Given the description of an element on the screen output the (x, y) to click on. 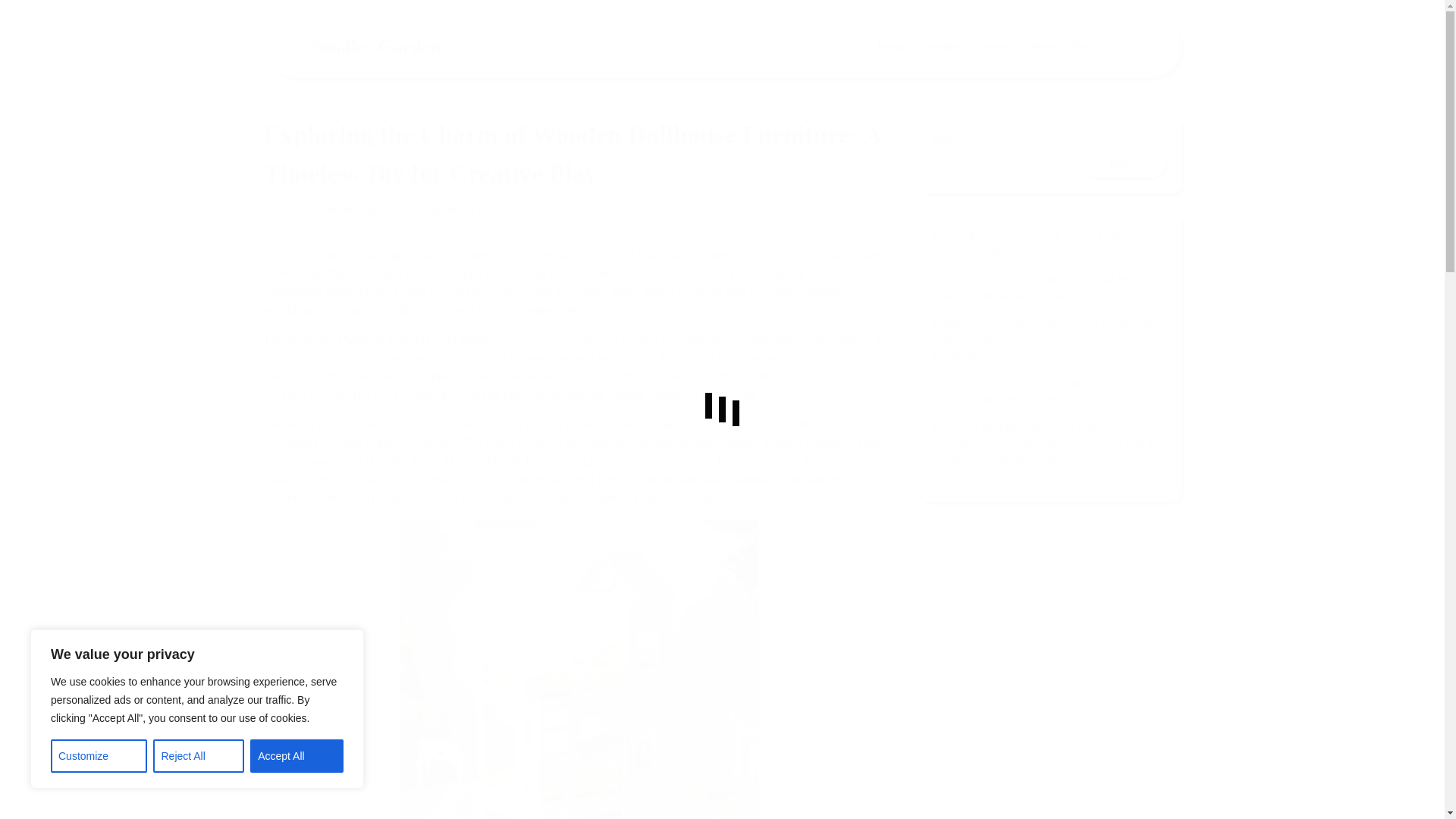
December 23, 2023 (374, 209)
Search (1086, 83)
kong (460, 209)
Home (892, 46)
Privacy Policy (1067, 46)
White Wooden Twin Bed House for Dolls (578, 669)
Accept All (296, 756)
How to Enhance Your Web Content with Interactive Elements (1028, 243)
Customize (98, 756)
Search (1123, 47)
Garden (941, 46)
Smaller Garden (374, 46)
Reject All (198, 756)
